Given the description of an element on the screen output the (x, y) to click on. 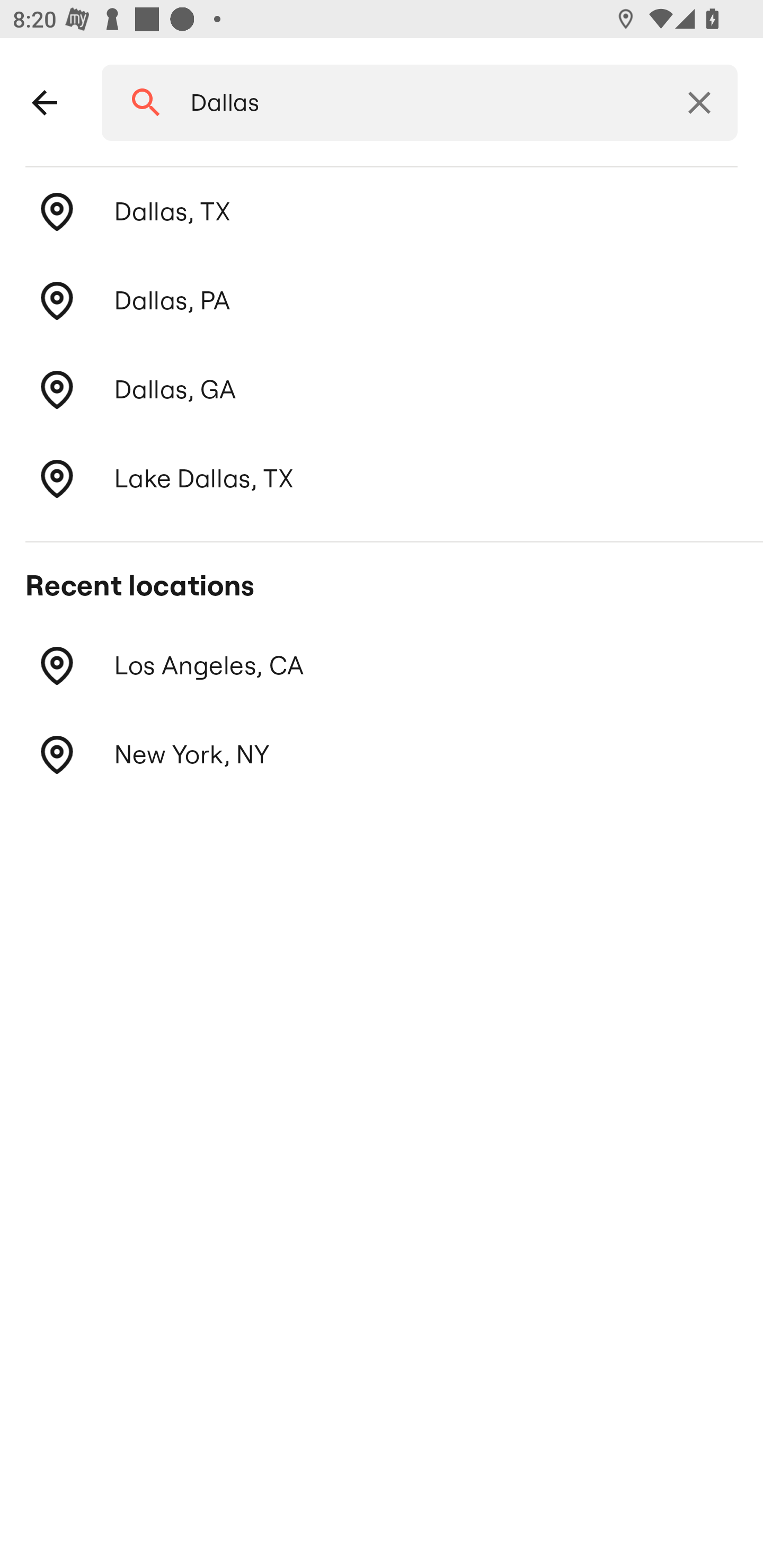
Back (44, 102)
Dallas (413, 102)
Clear (699, 102)
Dallas, TX (381, 212)
Dallas, PA (381, 300)
Dallas, GA (381, 389)
Lake Dallas, TX (381, 478)
Los Angeles, CA (381, 665)
New York, NY (381, 754)
